Given the description of an element on the screen output the (x, y) to click on. 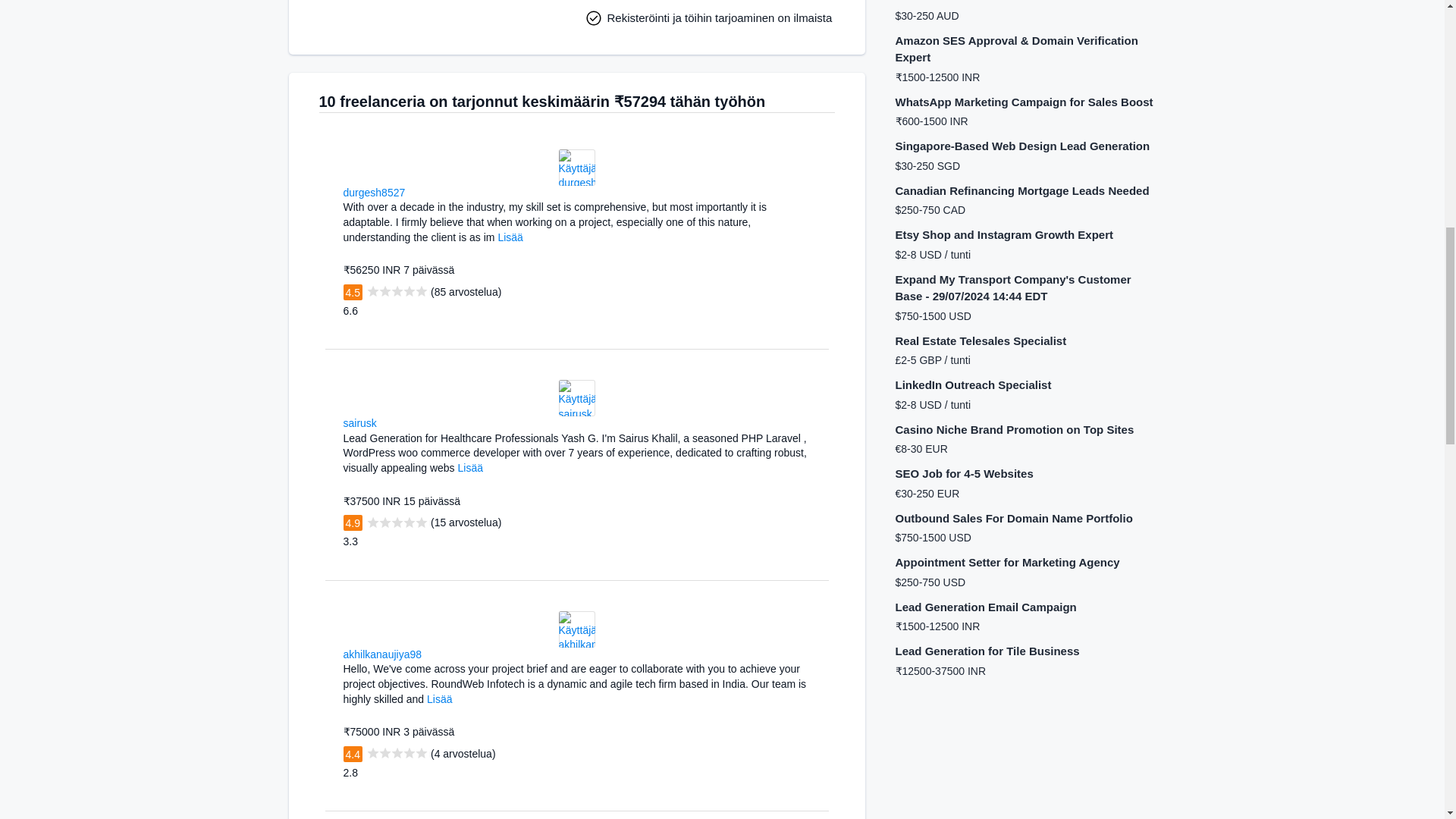
India (414, 191)
India (431, 653)
durgesh8527 (373, 192)
akhilkanaujiya98 (382, 654)
sairusk (358, 422)
Pakistan (386, 421)
